Given the description of an element on the screen output the (x, y) to click on. 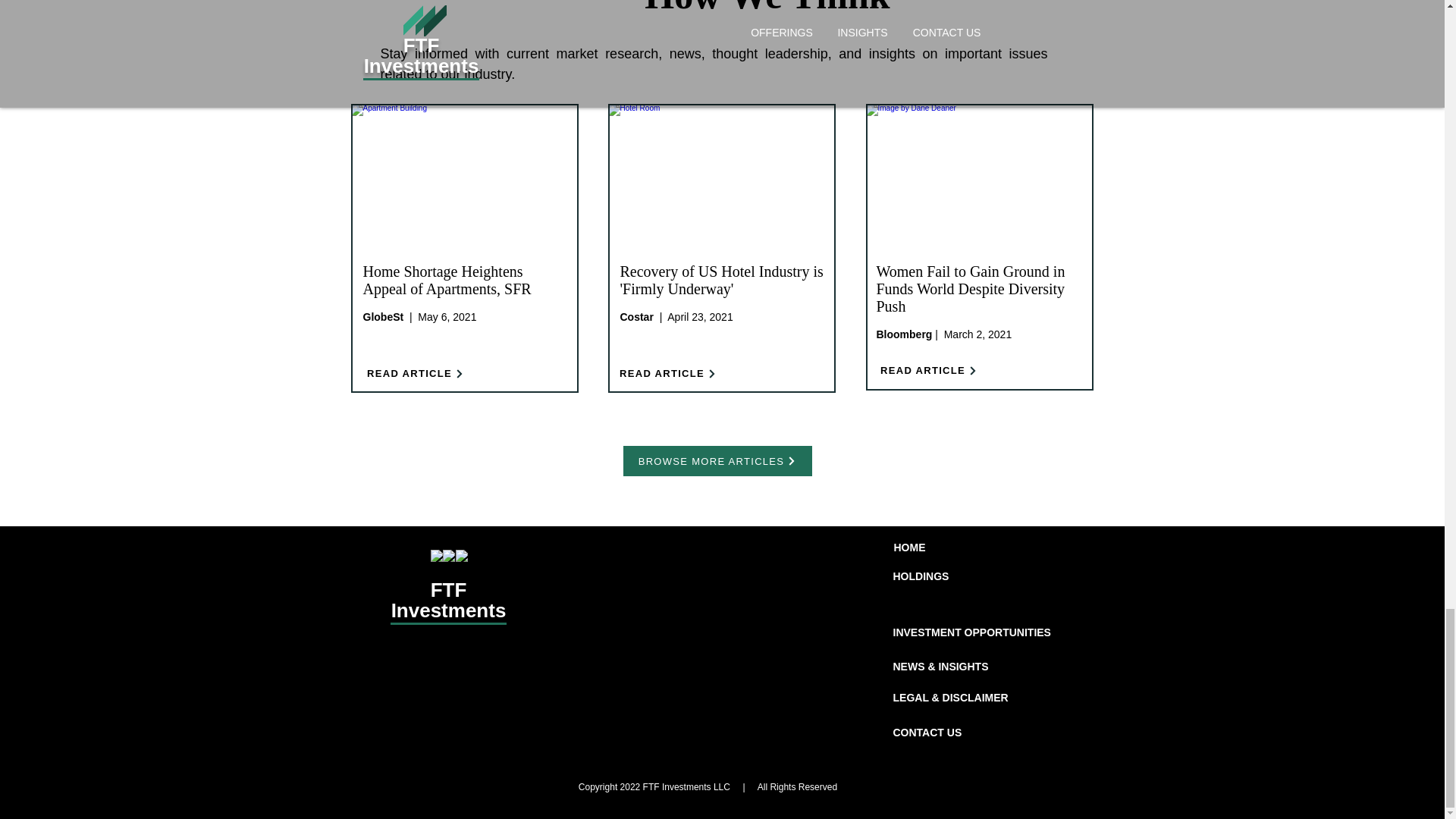
Recovery of US Hotel Industry is 'Firmly Underway' (722, 279)
Home Shortage Heightens Appeal of Apartments, SFR (446, 279)
FTF Investments (448, 600)
CONTACT US (927, 732)
READ ARTICLE (928, 370)
READ ARTICLE (667, 373)
HOLDINGS (921, 576)
HOME (908, 547)
BROWSE MORE ARTICLES (717, 460)
